Given the description of an element on the screen output the (x, y) to click on. 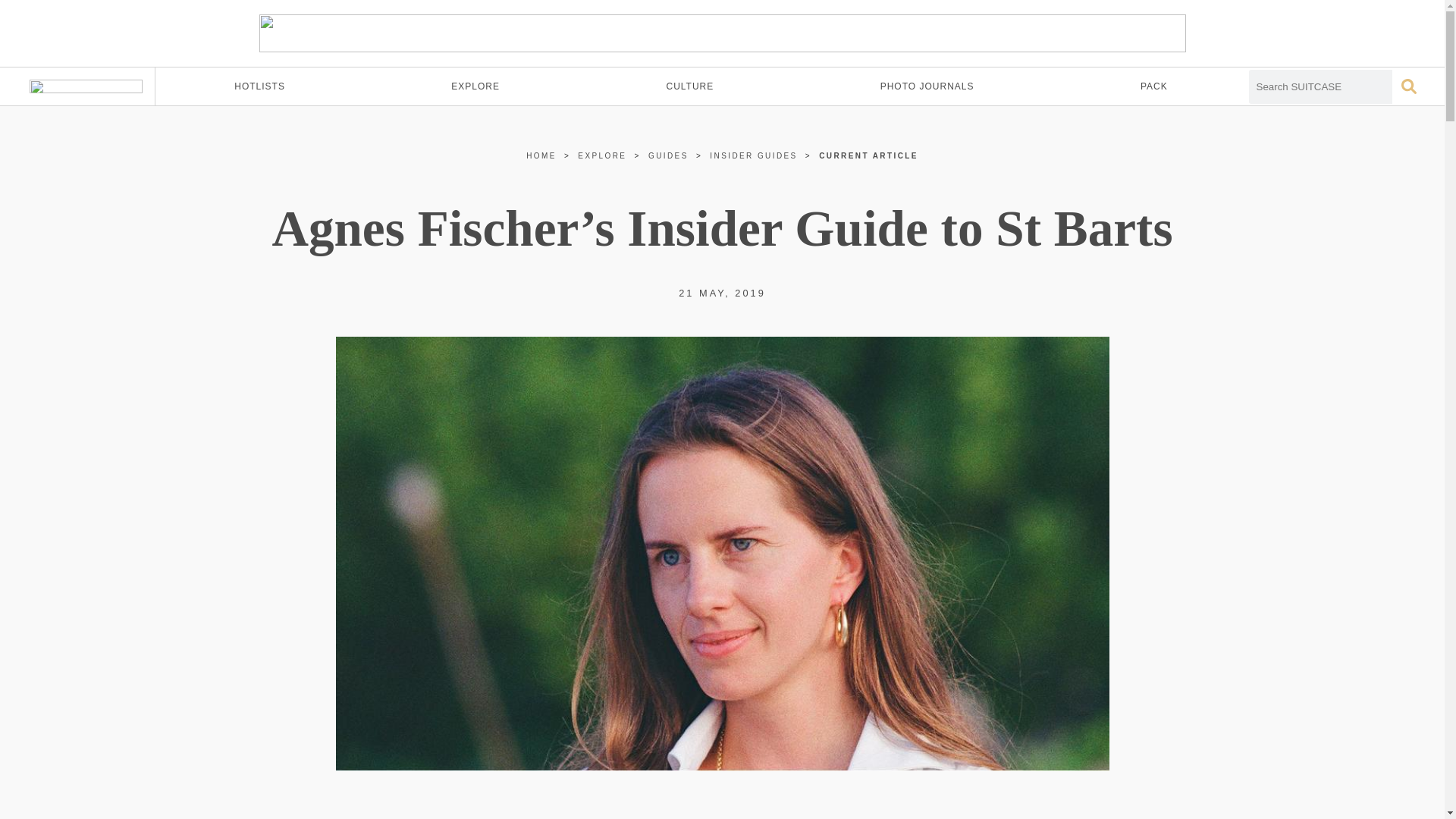
GUIDES (667, 155)
EXPLORE (475, 85)
CULTURE (689, 85)
EXPLORE (602, 155)
HOTLISTS (259, 85)
INSIDER GUIDES (753, 155)
PHOTO JOURNALS (927, 85)
HOME (540, 155)
PACK (1153, 85)
CURRENT ARTICLE (868, 155)
